Given the description of an element on the screen output the (x, y) to click on. 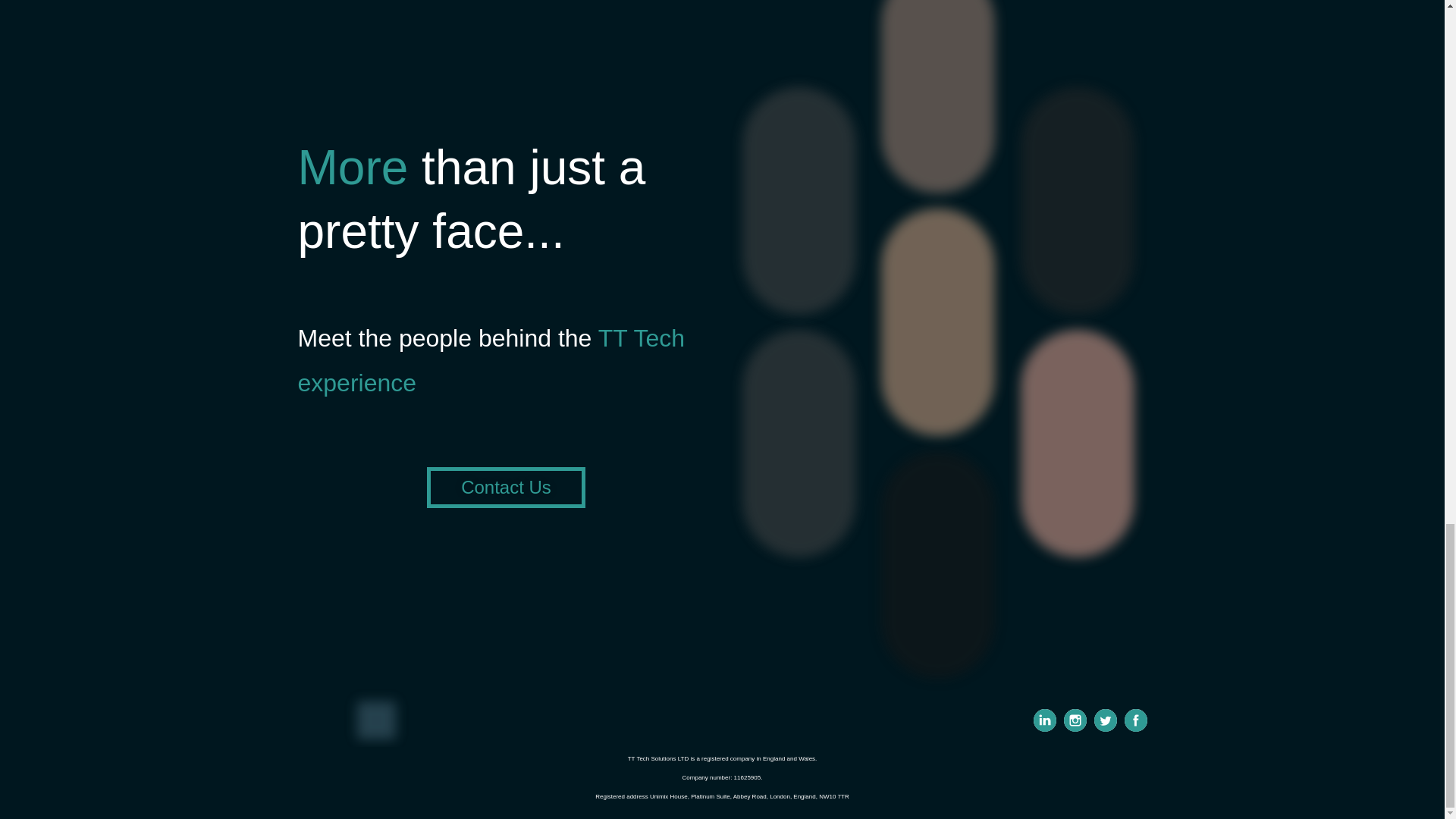
Contact Us (505, 486)
